Given the description of an element on the screen output the (x, y) to click on. 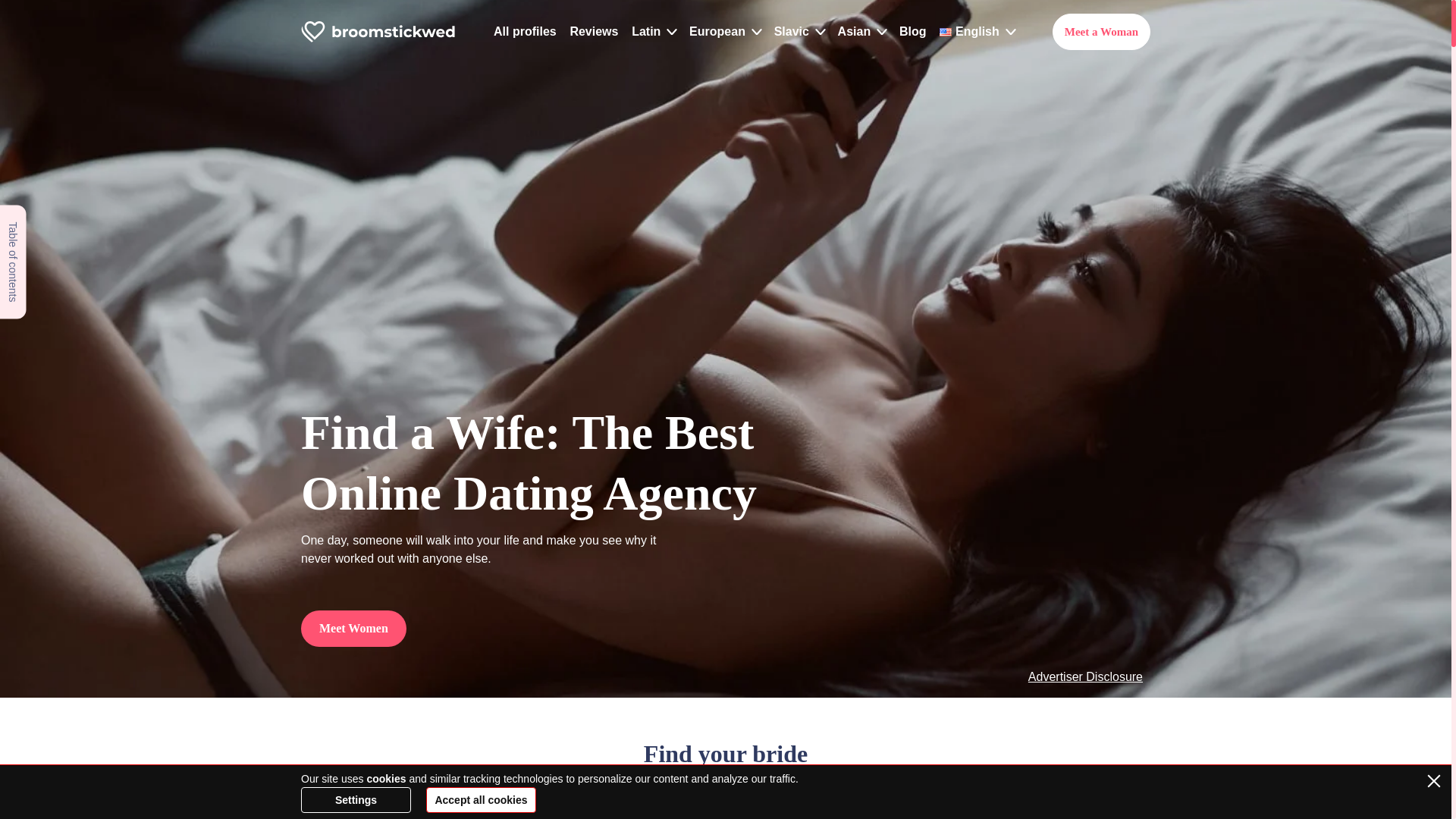
Latin (646, 31)
Reviews (593, 31)
Slavic (791, 31)
European (716, 31)
All profiles (524, 31)
Asian (854, 31)
